Given the description of an element on the screen output the (x, y) to click on. 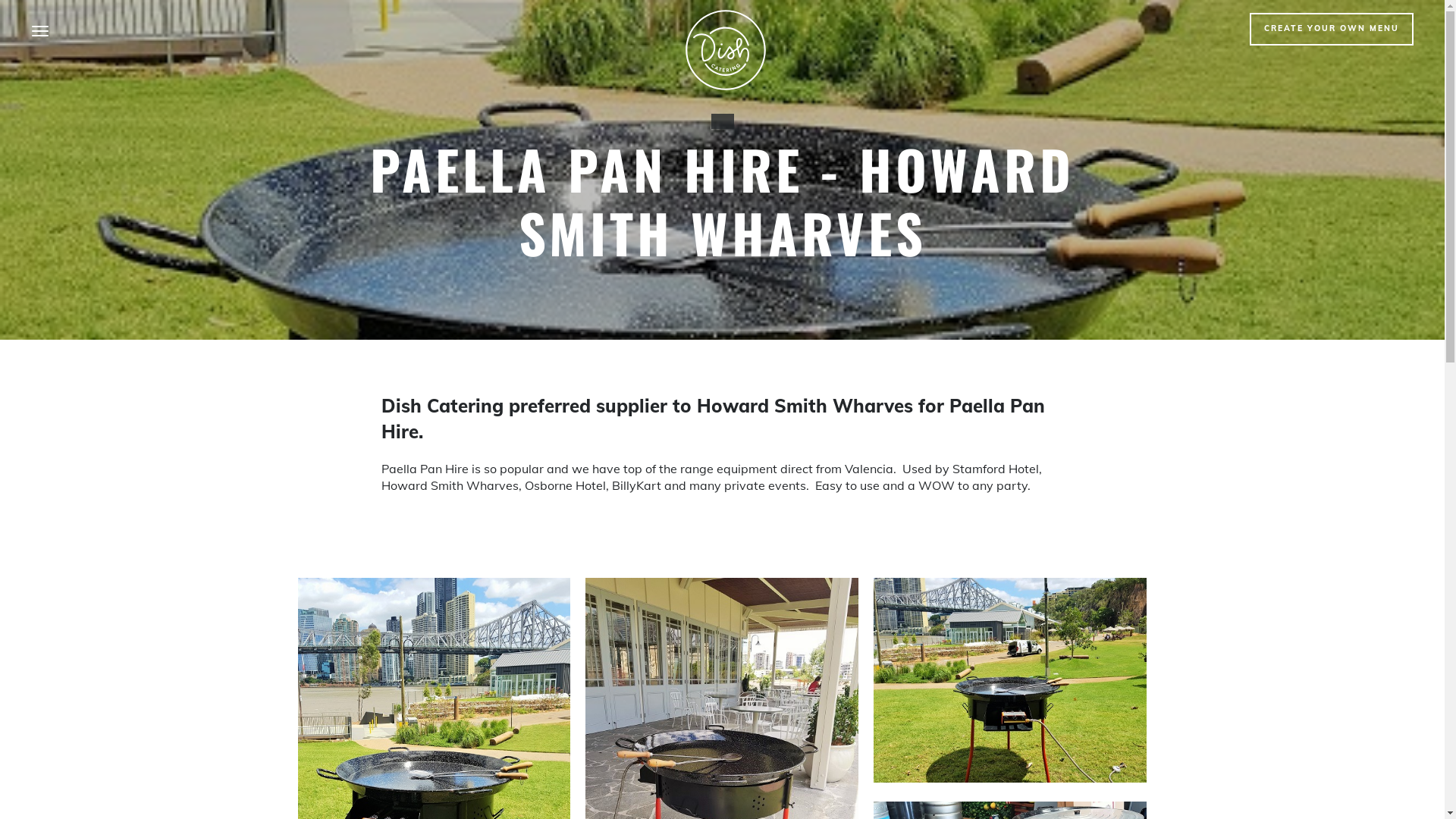
CREATE YOUR OWN MENU Element type: text (1331, 28)
MENU Element type: text (39, 29)
